Given the description of an element on the screen output the (x, y) to click on. 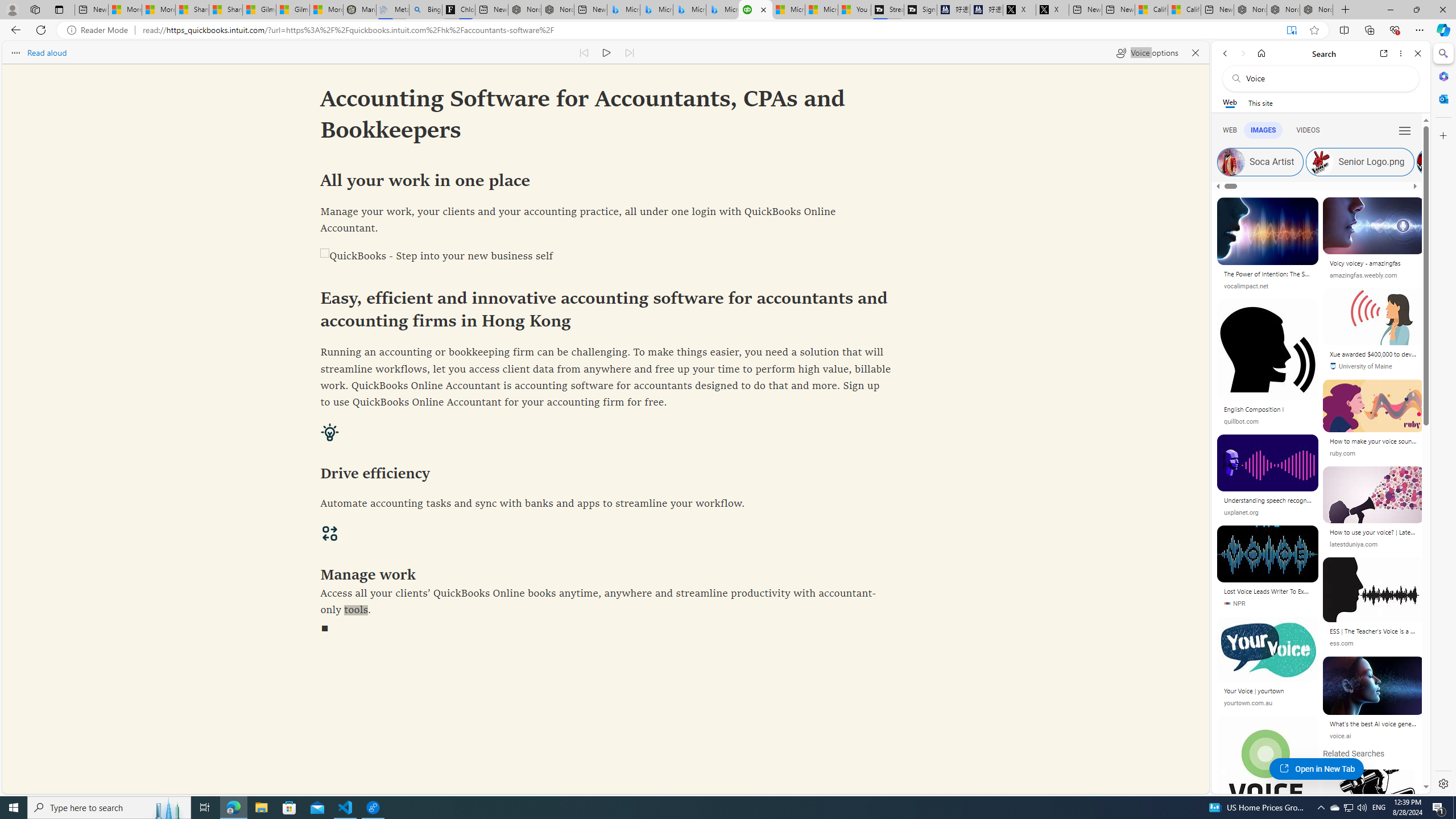
Microsoft Start Sports (788, 9)
Chloe Sorvino (458, 9)
vocalimpact.net (1267, 285)
English Composition I (1267, 409)
Voice options (1146, 52)
Senior Logo.png (1359, 162)
ESS | The Teacher's Voice is a Powerful Instrument (1372, 632)
Senior Logo.png (1319, 162)
Streaming Coverage | T3 (887, 9)
Read previous paragraph (583, 52)
Home (1261, 53)
Voice Logo (1373, 783)
